Given the description of an element on the screen output the (x, y) to click on. 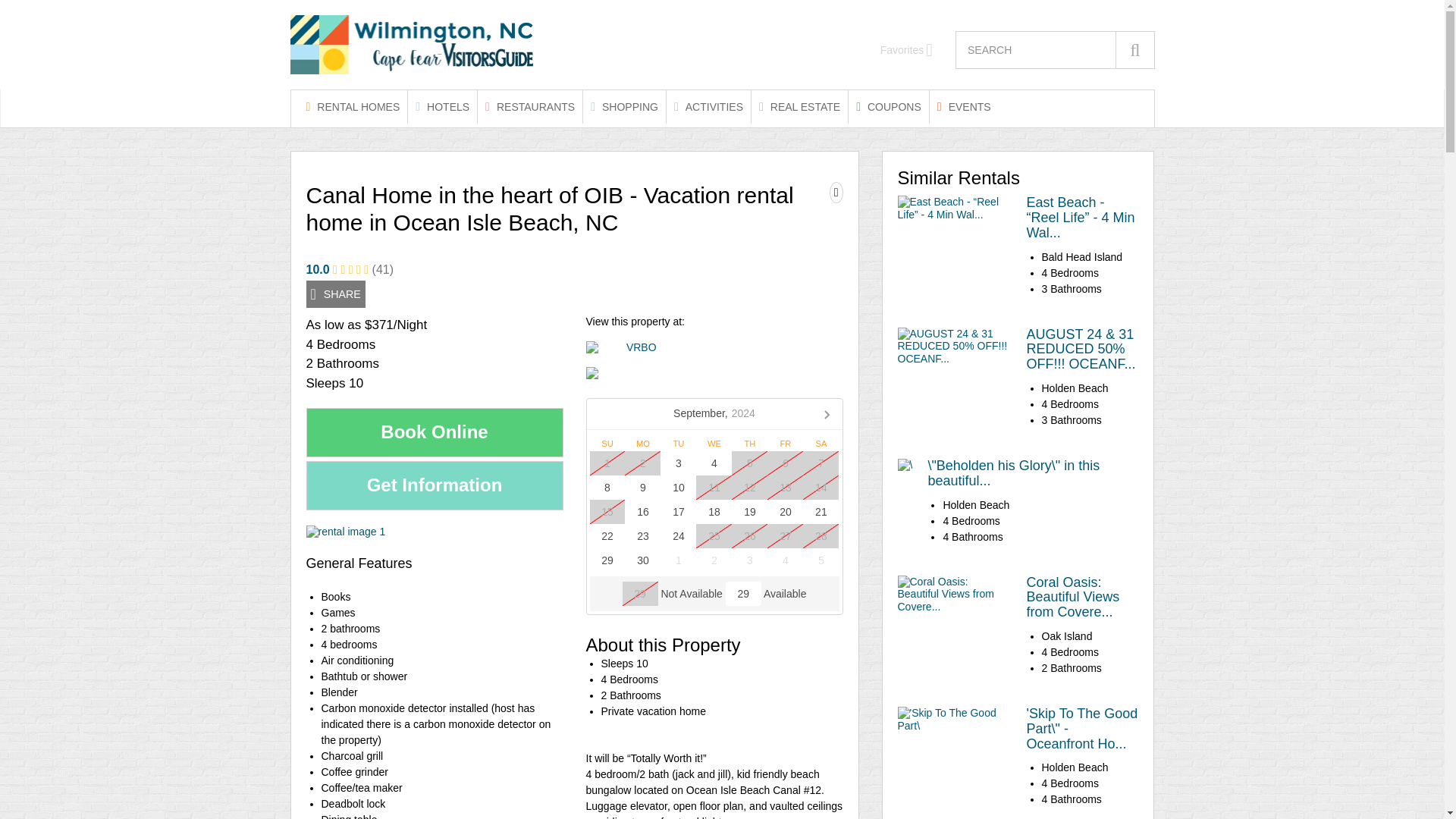
Get Information (434, 485)
EVENTS (964, 106)
HOTELS (442, 106)
Favorites (906, 49)
ACTIVITIES (708, 106)
RENTAL HOMES (352, 106)
COUPONS (888, 106)
SHOPPING (624, 106)
RESTAURANTS (529, 106)
Book Online (434, 432)
